Given the description of an element on the screen output the (x, y) to click on. 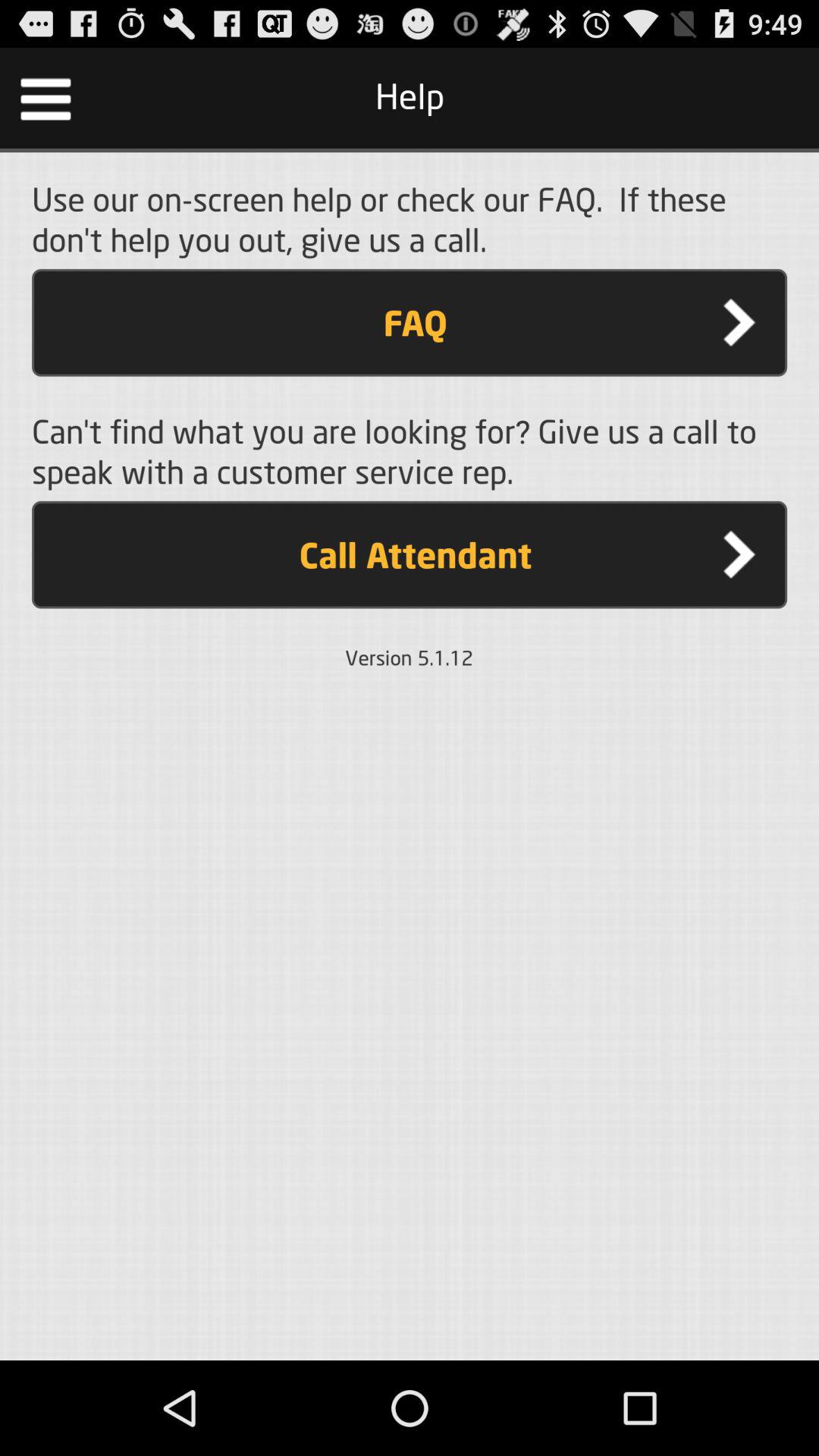
open icon at the top left corner (45, 97)
